Given the description of an element on the screen output the (x, y) to click on. 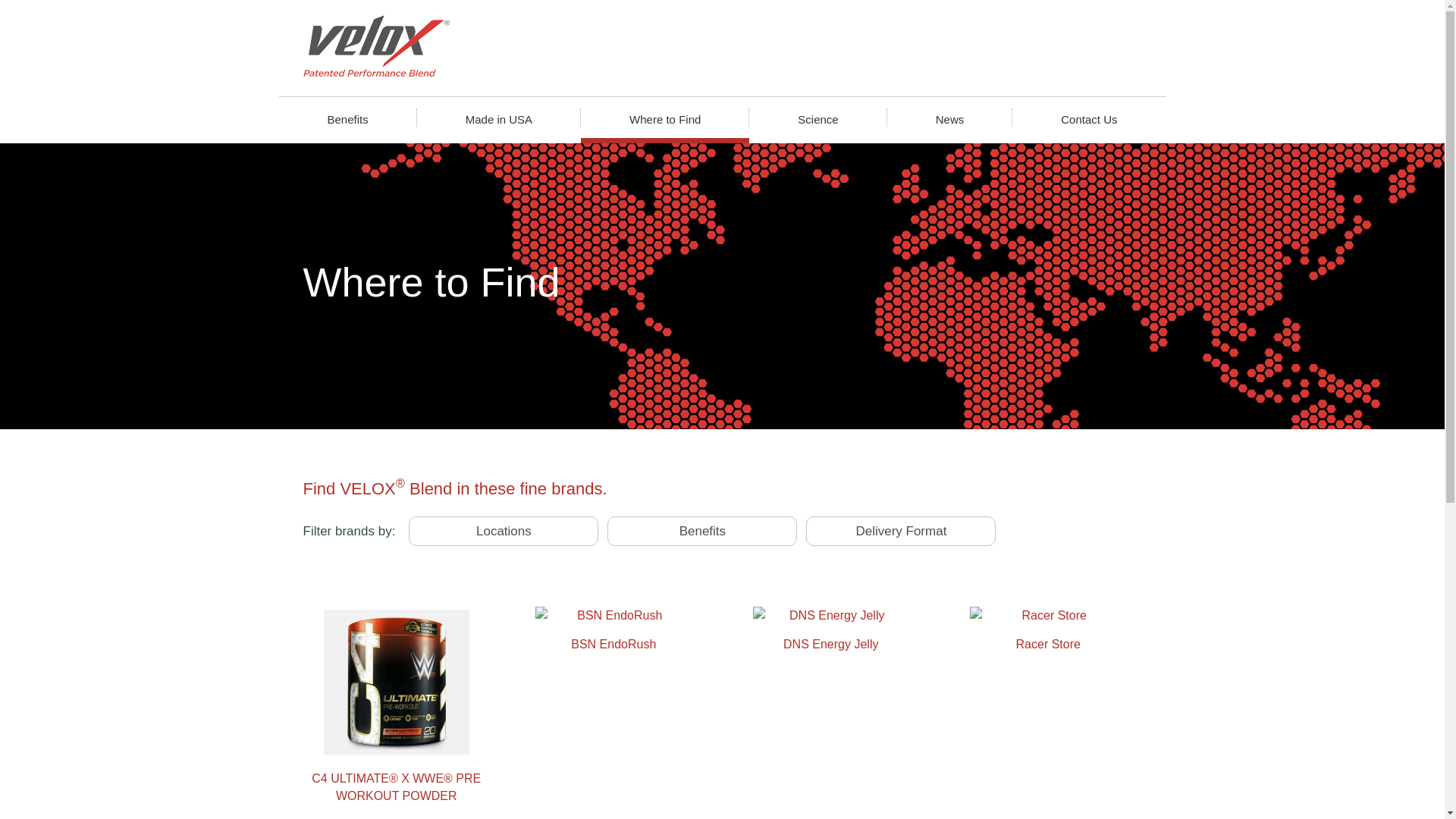
Locations (502, 530)
Delivery Format (900, 530)
Made in USA (498, 117)
Science (817, 117)
Where to Find (665, 117)
Contact Us (1089, 117)
Benefits (347, 117)
BSN EndoRush (613, 629)
Racer Store (1048, 629)
DNS Energy Jelly (830, 629)
